Given the description of an element on the screen output the (x, y) to click on. 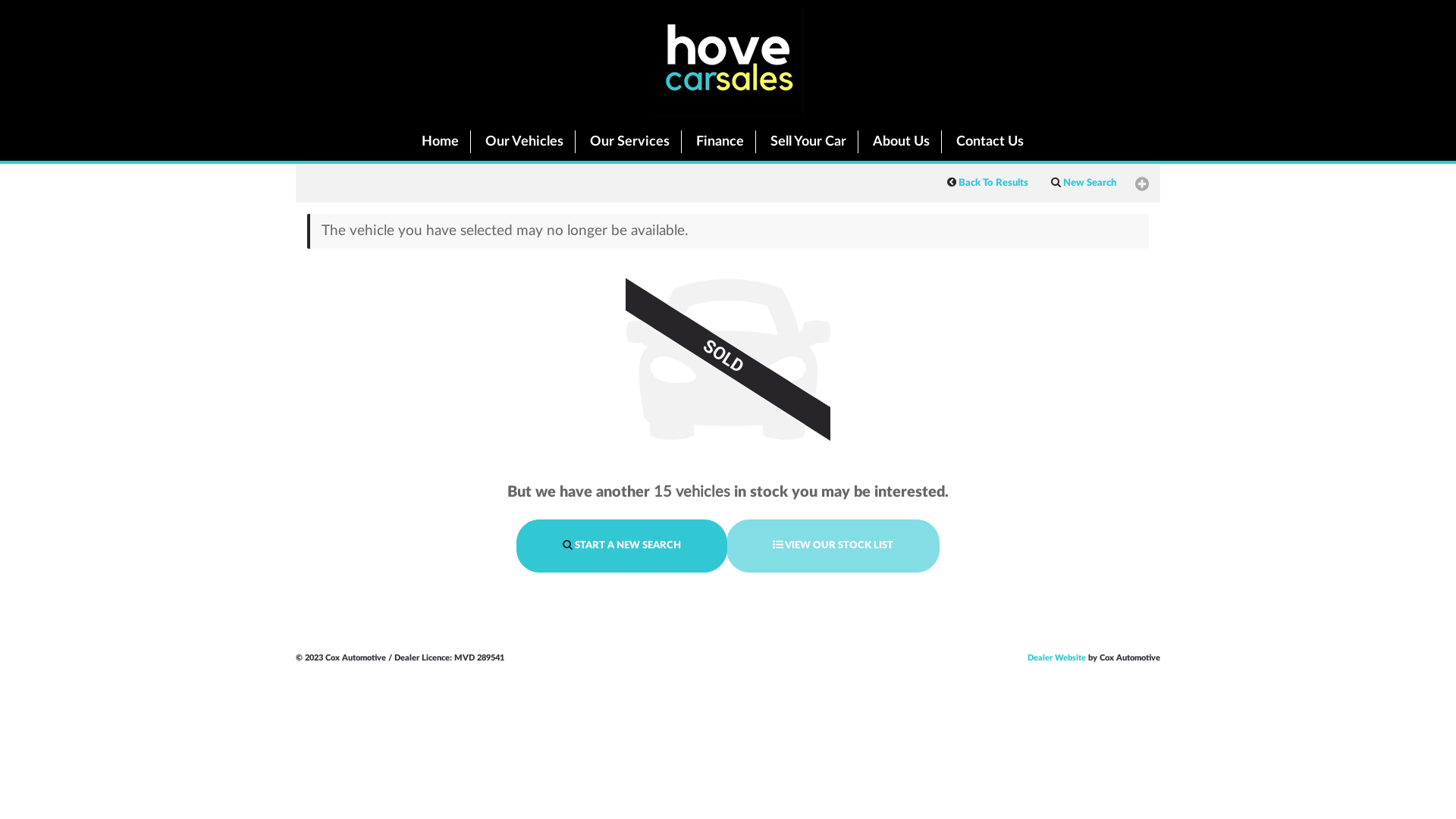
Our Vehicles Element type: text (523, 141)
Finance Element type: text (719, 141)
START A NEW SEARCH Element type: text (621, 545)
About Us Element type: text (901, 141)
Contact Us Element type: text (989, 141)
VIEW OUR STOCK LIST Element type: text (832, 545)
Dealer Website Element type: text (1056, 657)
Our Services Element type: text (628, 141)
Home Element type: text (438, 141)
Back To Results Element type: text (987, 183)
New Search Element type: text (1083, 183)
Sell Your Car Element type: text (807, 141)
